Given the description of an element on the screen output the (x, y) to click on. 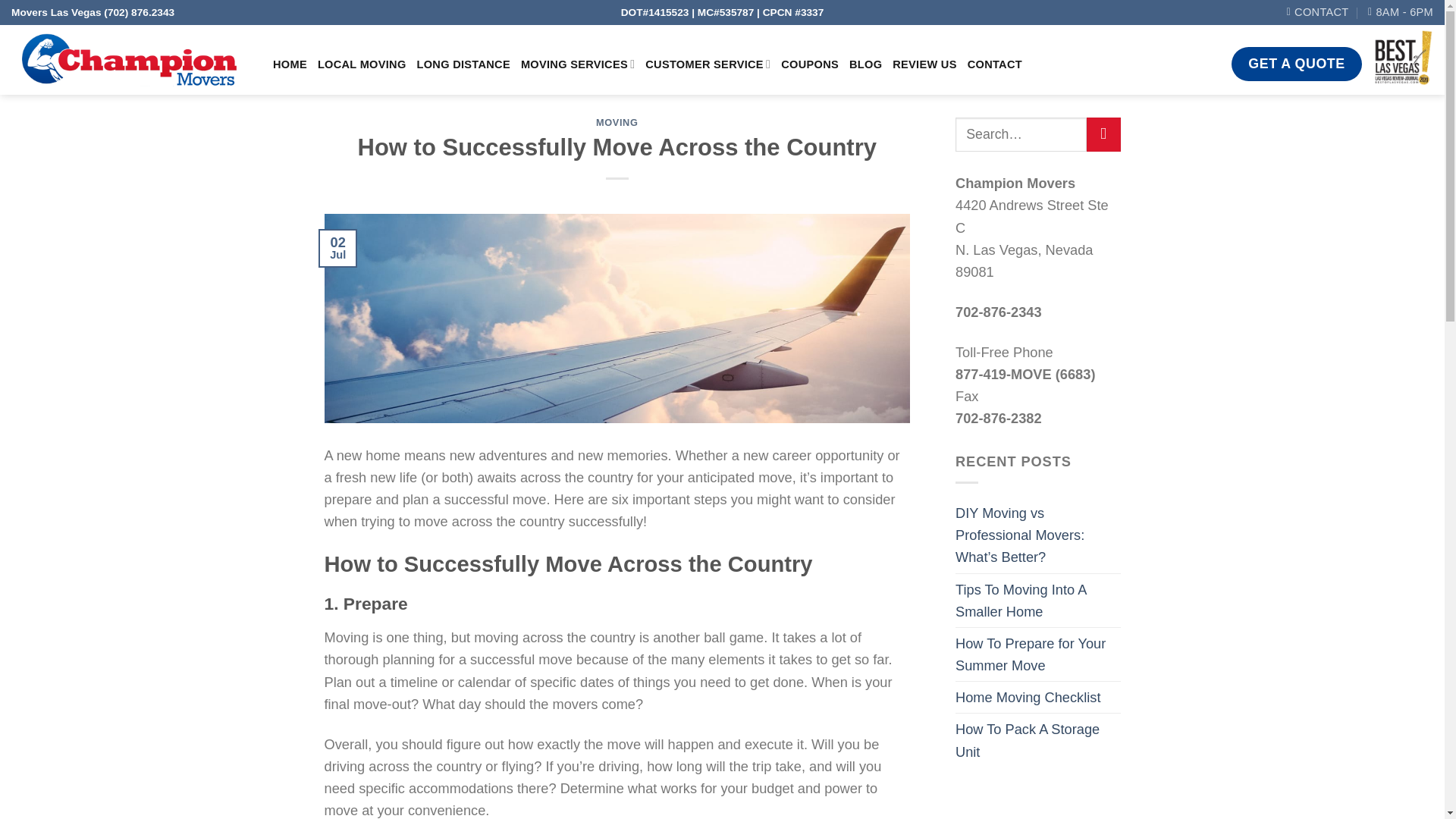
GET A QUOTE (1296, 63)
CUSTOMER SERVICE (707, 63)
HOME (290, 63)
CONTACT (995, 63)
BLOG (865, 63)
8AM - 6PM  (1400, 12)
LONG DISTANCE (463, 63)
8AM - 6PM (1400, 12)
MOVING SERVICES (577, 63)
CONTACT (1318, 12)
